Given the description of an element on the screen output the (x, y) to click on. 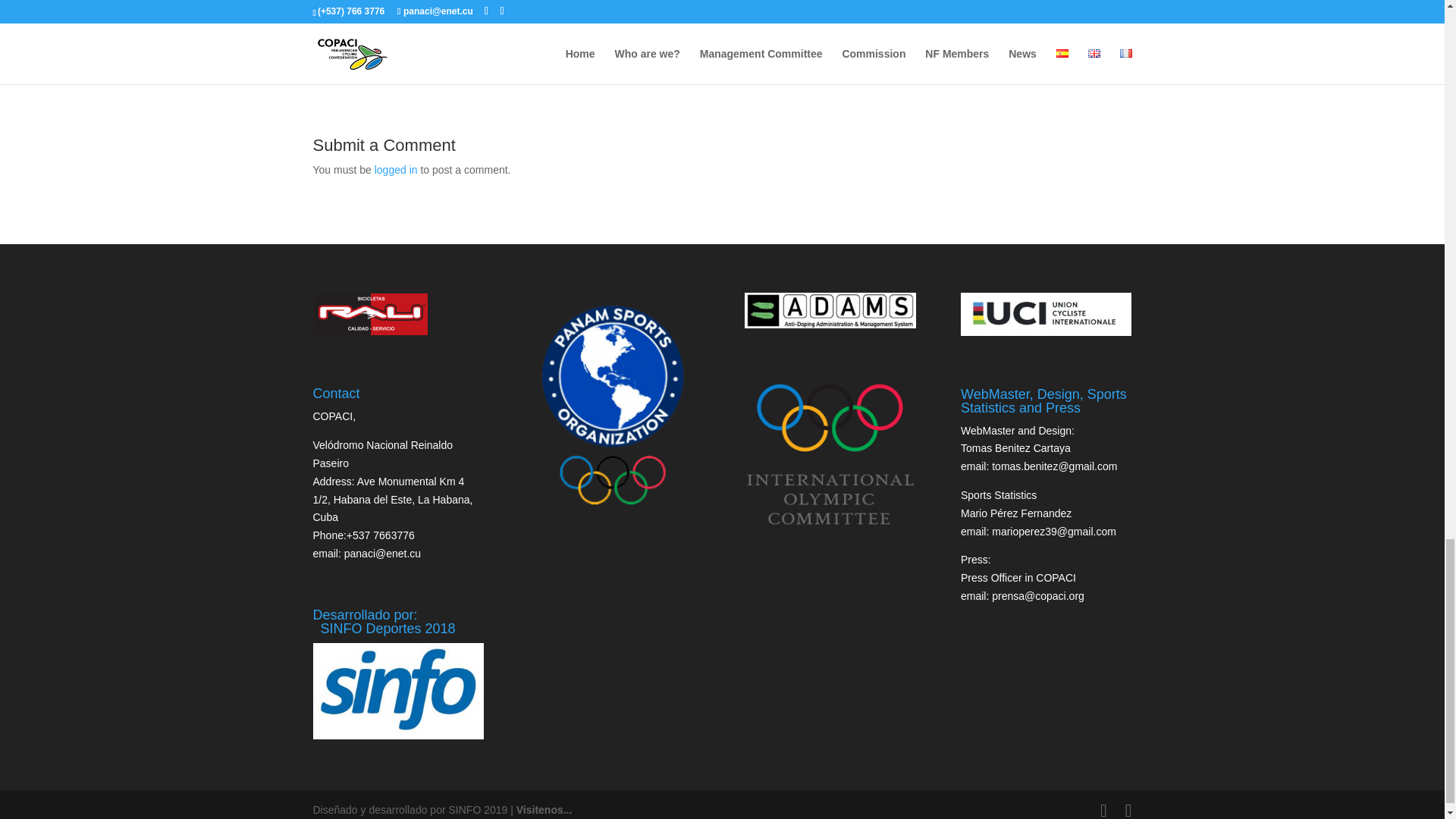
logged in (395, 169)
